Given the description of an element on the screen output the (x, y) to click on. 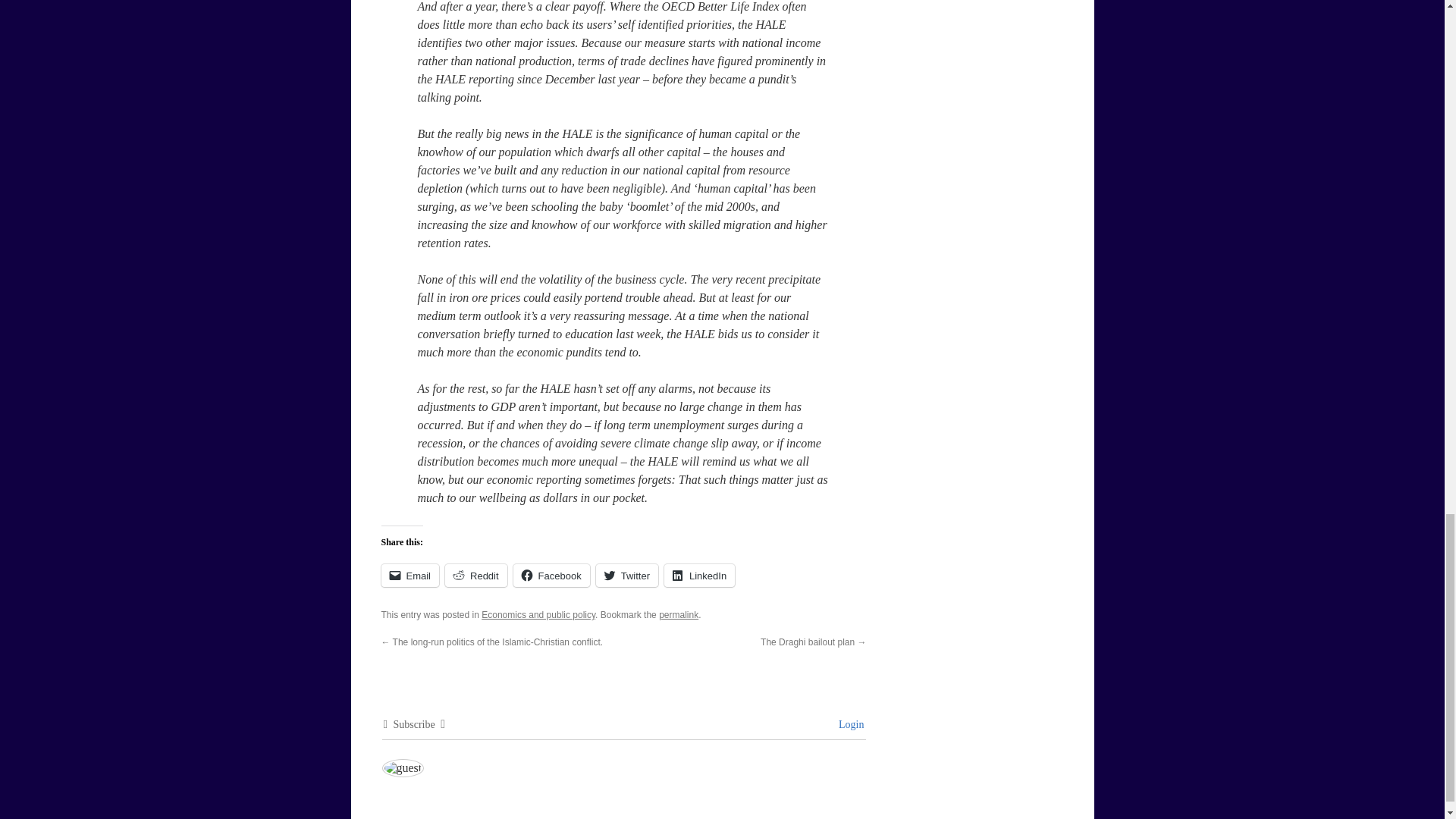
Click to share on Reddit (475, 575)
Email (409, 575)
Twitter (626, 575)
Click to share on Twitter (626, 575)
permalink (678, 614)
Click to email a link to a friend (409, 575)
Economics and public policy (538, 614)
Click to share on Facebook (551, 575)
Click to share on LinkedIn (699, 575)
Facebook (551, 575)
